Given the description of an element on the screen output the (x, y) to click on. 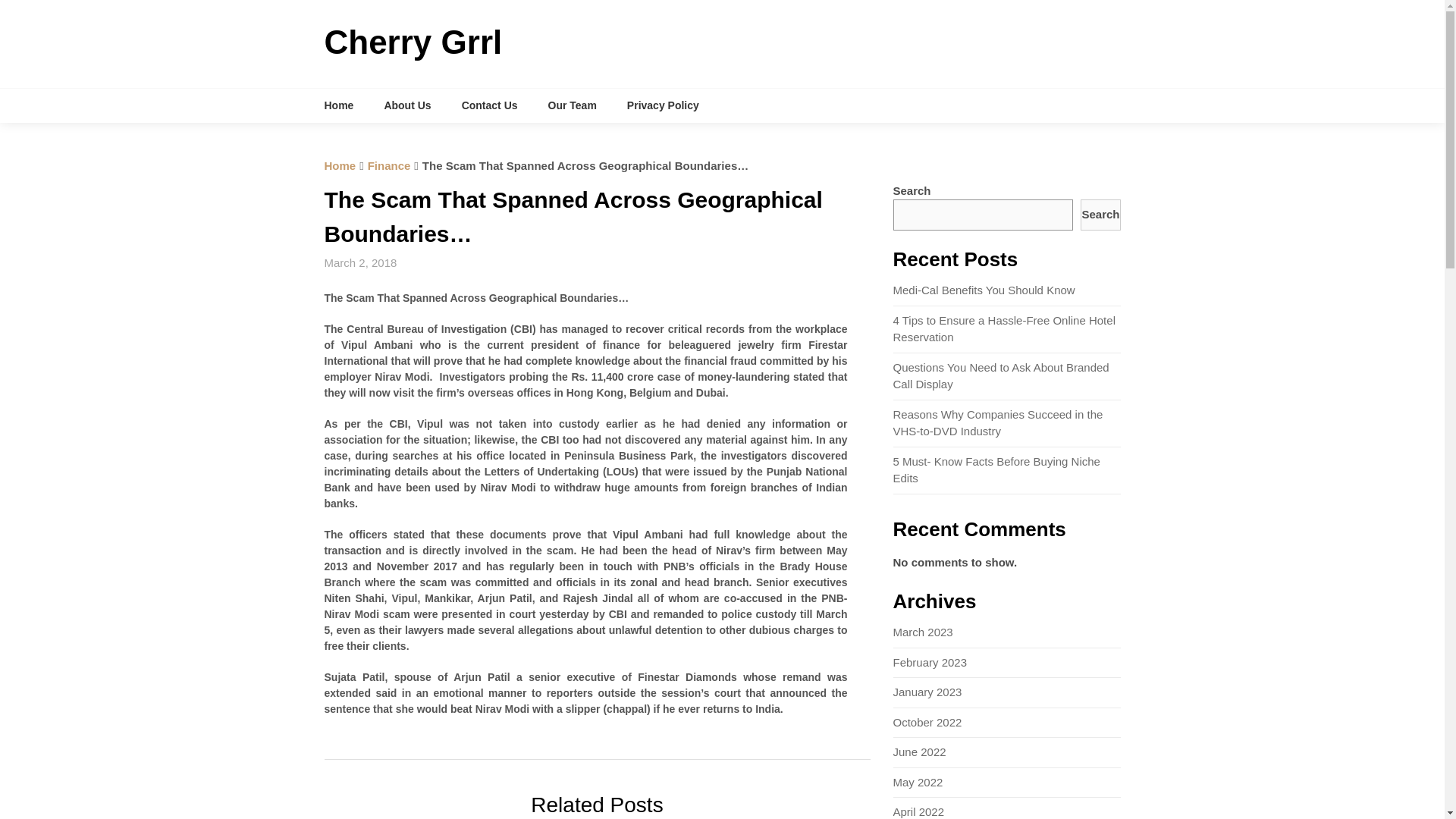
About Us (406, 105)
Privacy Policy (662, 105)
Finance (389, 164)
June 2022 (919, 751)
March 2023 (923, 631)
Reasons Why Companies Succeed in the VHS-to-DVD Industry (998, 422)
April 2022 (918, 811)
October 2022 (927, 721)
Medi-Cal Benefits You Should Know (984, 289)
Home (340, 164)
Home (346, 105)
4 Tips to Ensure a Hassle-Free Online Hotel Reservation (1004, 328)
Questions You Need to Ask About Branded Call Display (1001, 376)
Our Team (571, 105)
February 2023 (930, 662)
